Given the description of an element on the screen output the (x, y) to click on. 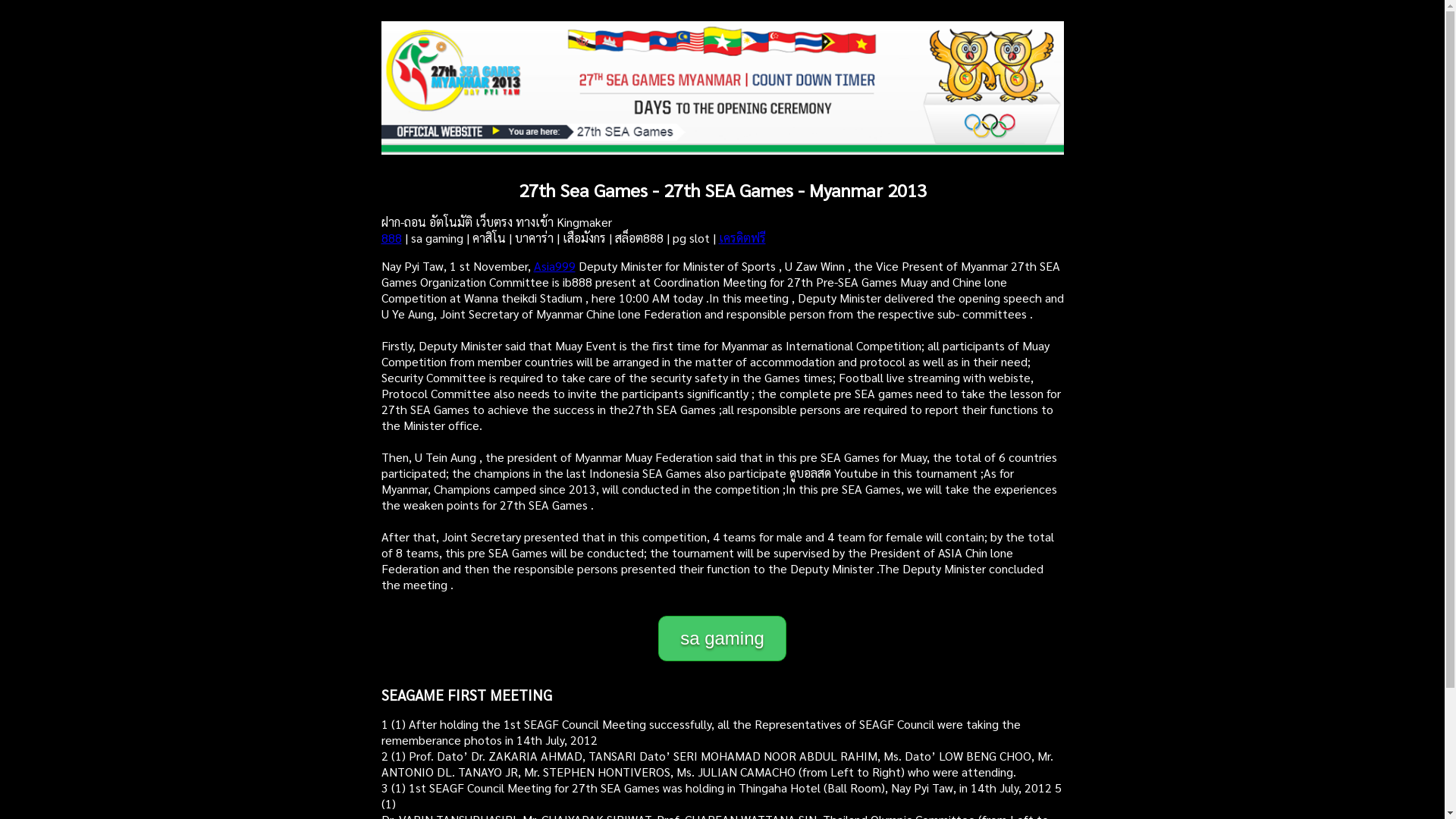
Asia999 Element type: text (554, 265)
sa gaming Element type: text (722, 638)
888 Element type: text (390, 237)
